Given the description of an element on the screen output the (x, y) to click on. 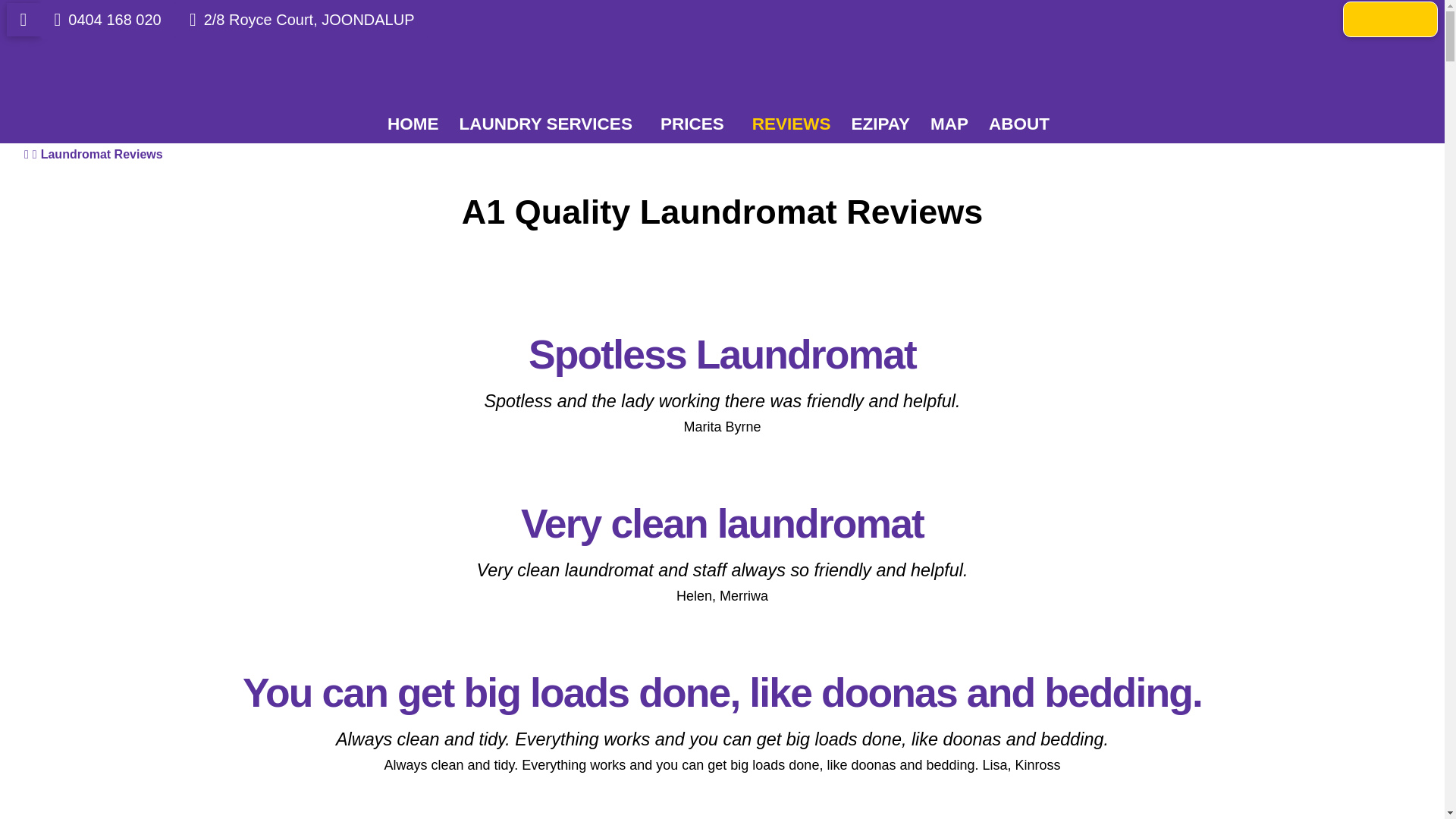
You Are Here (101, 154)
REVIEWS (791, 124)
Laundromat Reviews (101, 154)
MAP (949, 124)
HOME (413, 124)
ABOUT (1022, 124)
PRICES (695, 124)
0404 168 020 (107, 19)
Home (26, 154)
EZIPAY (880, 124)
LAUNDRY SERVICES (548, 124)
